Given the description of an element on the screen output the (x, y) to click on. 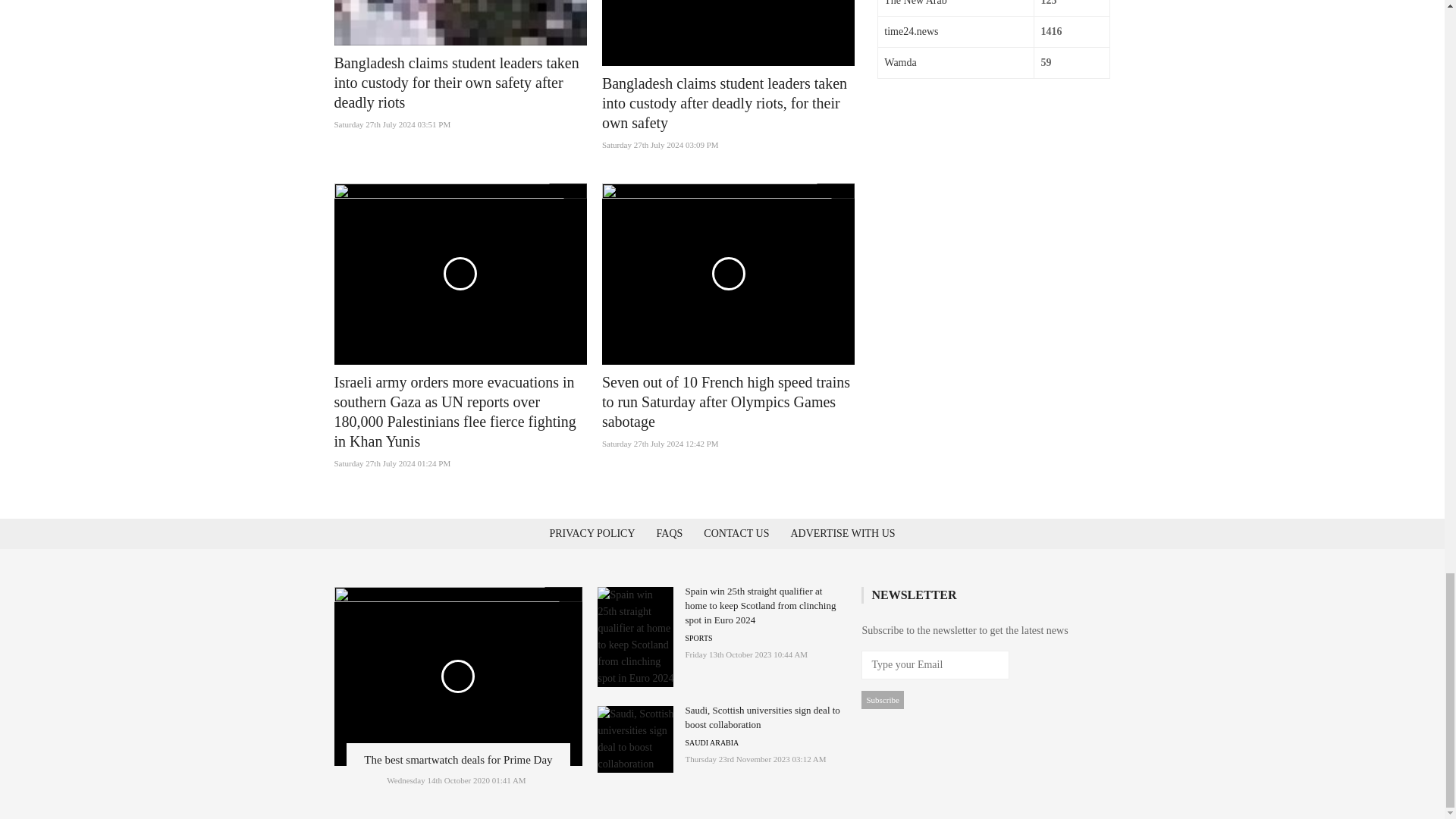
Subscribe (881, 700)
